Given the description of an element on the screen output the (x, y) to click on. 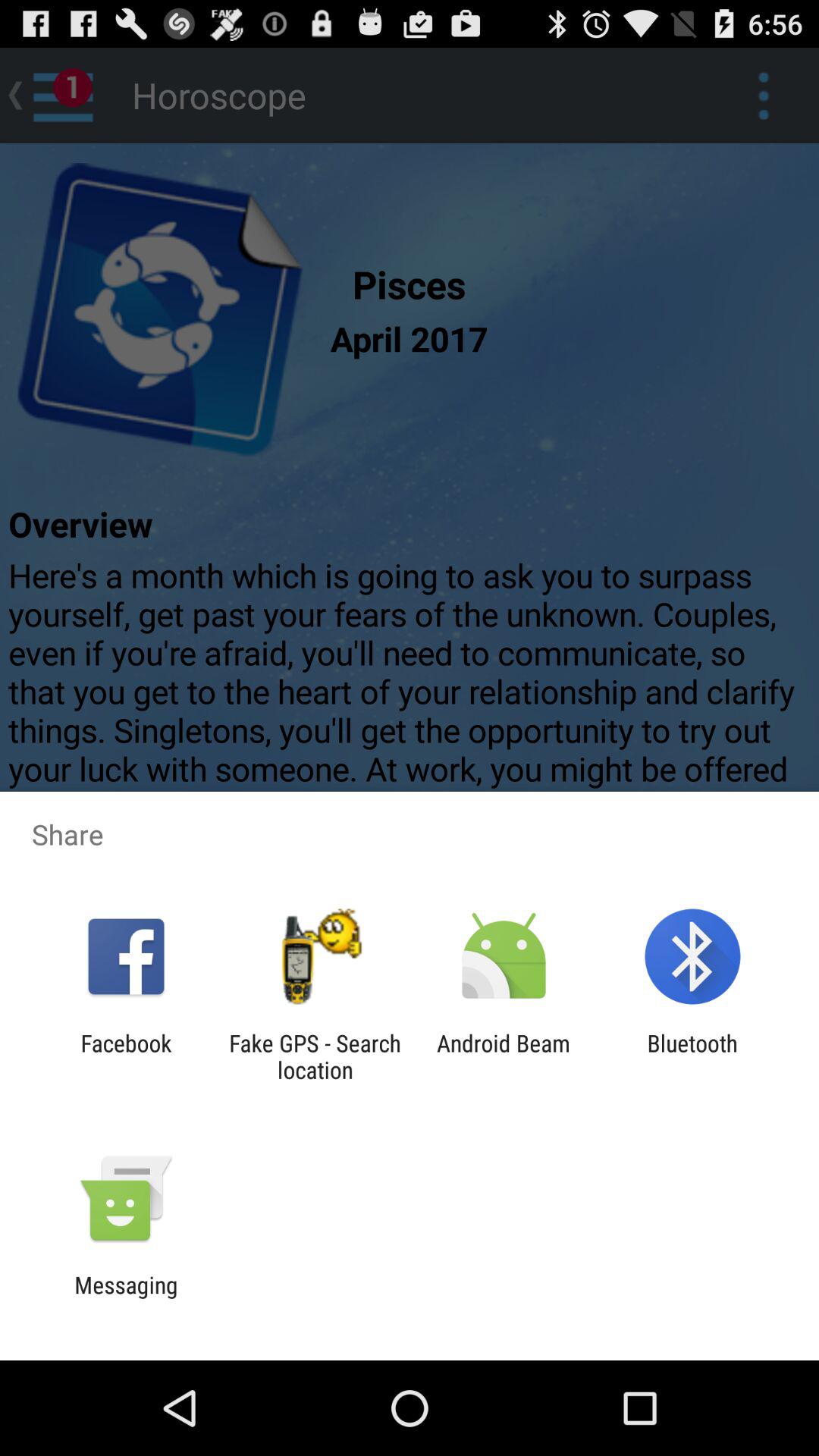
scroll to android beam item (503, 1056)
